Given the description of an element on the screen output the (x, y) to click on. 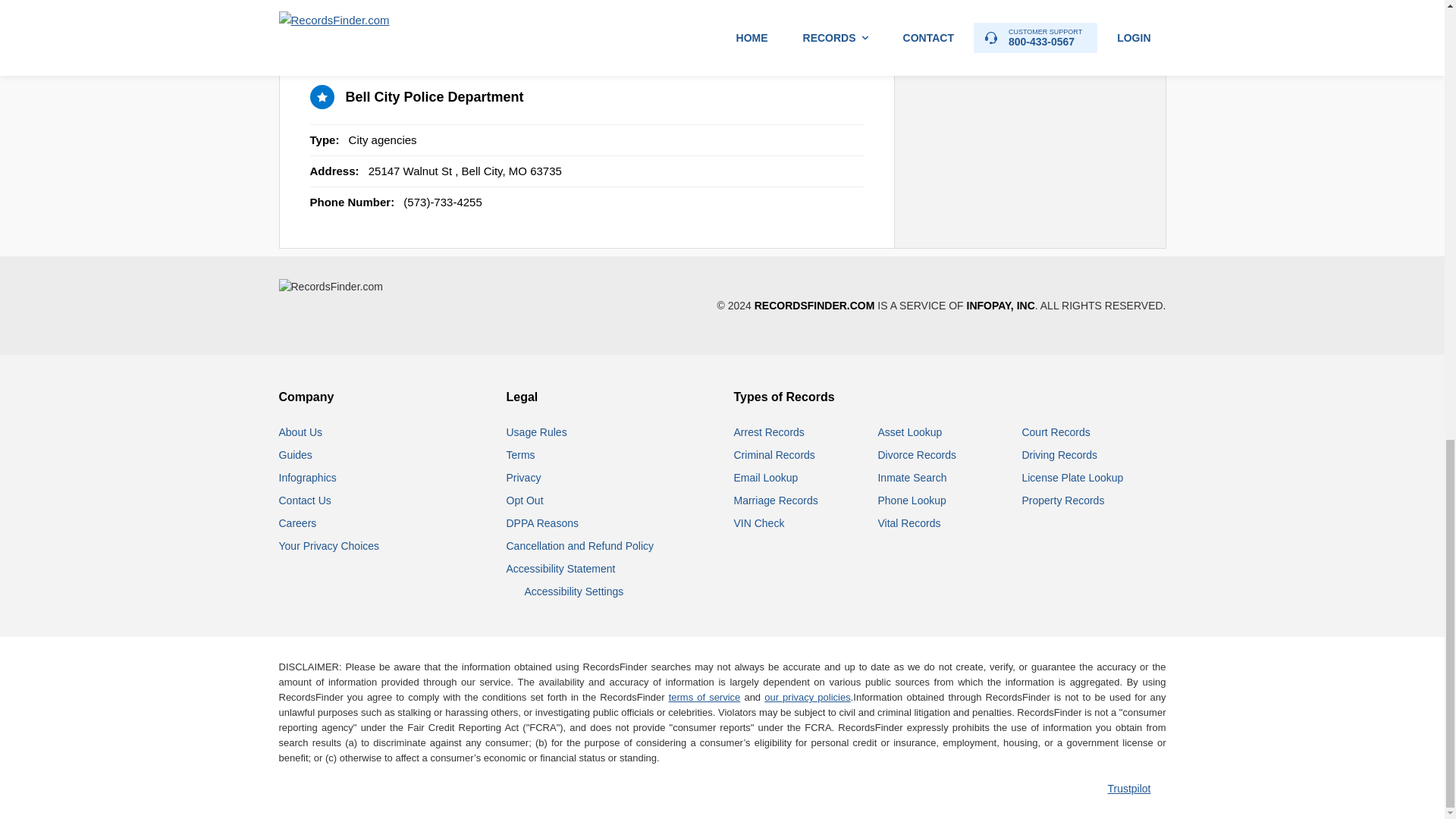
RecordsFinder.com DPPA Reasons (542, 522)
Contact RecordsFinder.com (305, 500)
RecordsFinder.com Opt Out Instructions (524, 500)
RecordsFinder.com Usage Rules (536, 431)
View Public Records Infographics and Statistics (307, 477)
Careers at RecordsFinder.com (298, 522)
RecordsFinder.com Accessibility Statement (560, 568)
Guides and How tos (296, 454)
RecordsFinder.com Terms and Conditions (520, 454)
Your Privacy Choices (329, 545)
About RecordsFinder.com (301, 431)
RecordsFinder.com Cancellation and Refund Policy (579, 545)
RecordsFinder.com Privacy Policy (523, 477)
